Given the description of an element on the screen output the (x, y) to click on. 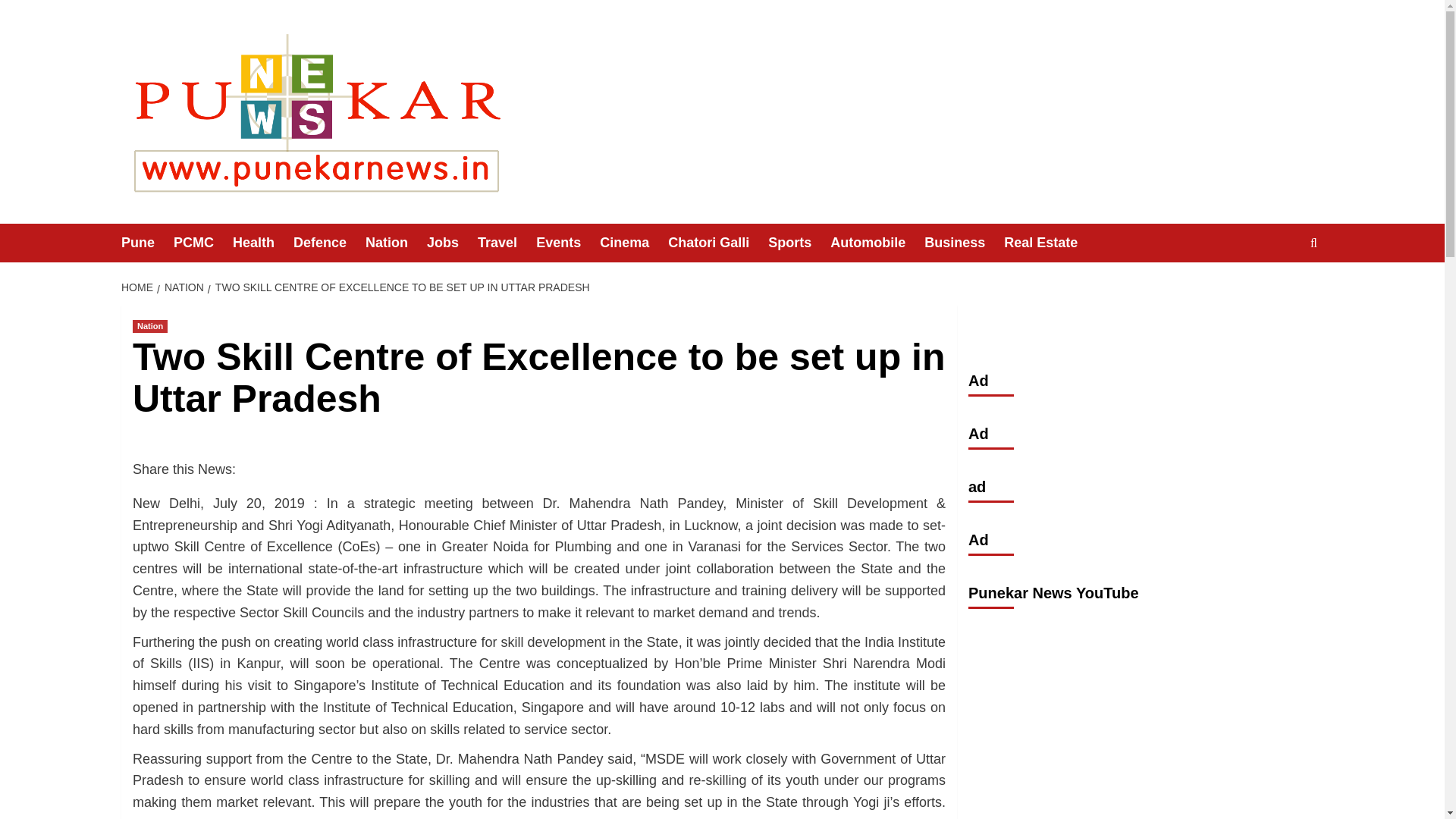
Defence (329, 242)
Travel (506, 242)
Nation (395, 242)
Pune (146, 242)
Nation (149, 326)
Automobile (876, 242)
Events (567, 242)
Health (263, 242)
Search (1278, 289)
Chatori Galli (718, 242)
Business (964, 242)
Jobs (451, 242)
HOME (138, 287)
